Given the description of an element on the screen output the (x, y) to click on. 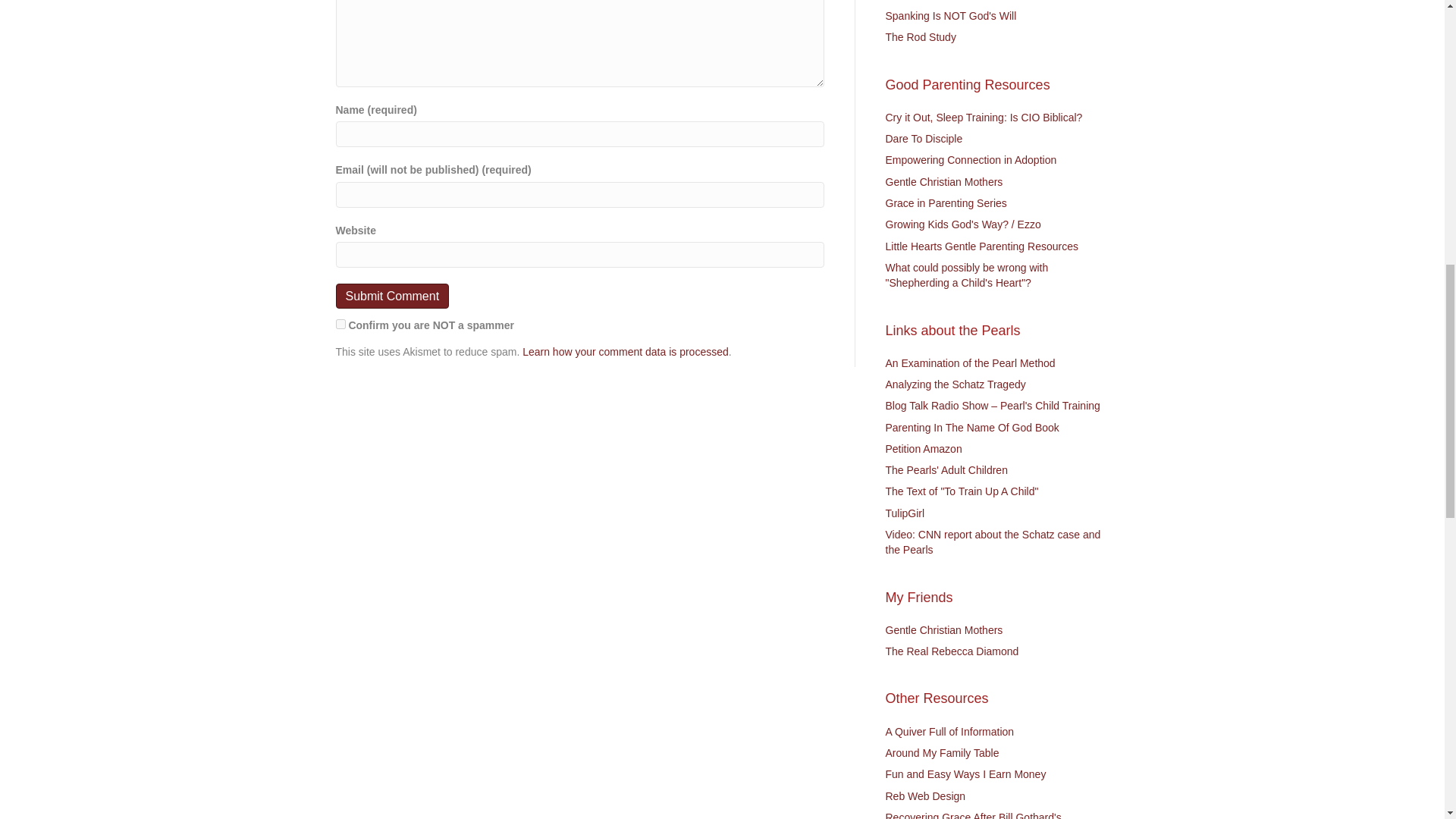
Submit Comment (391, 295)
on (339, 324)
